Given the description of an element on the screen output the (x, y) to click on. 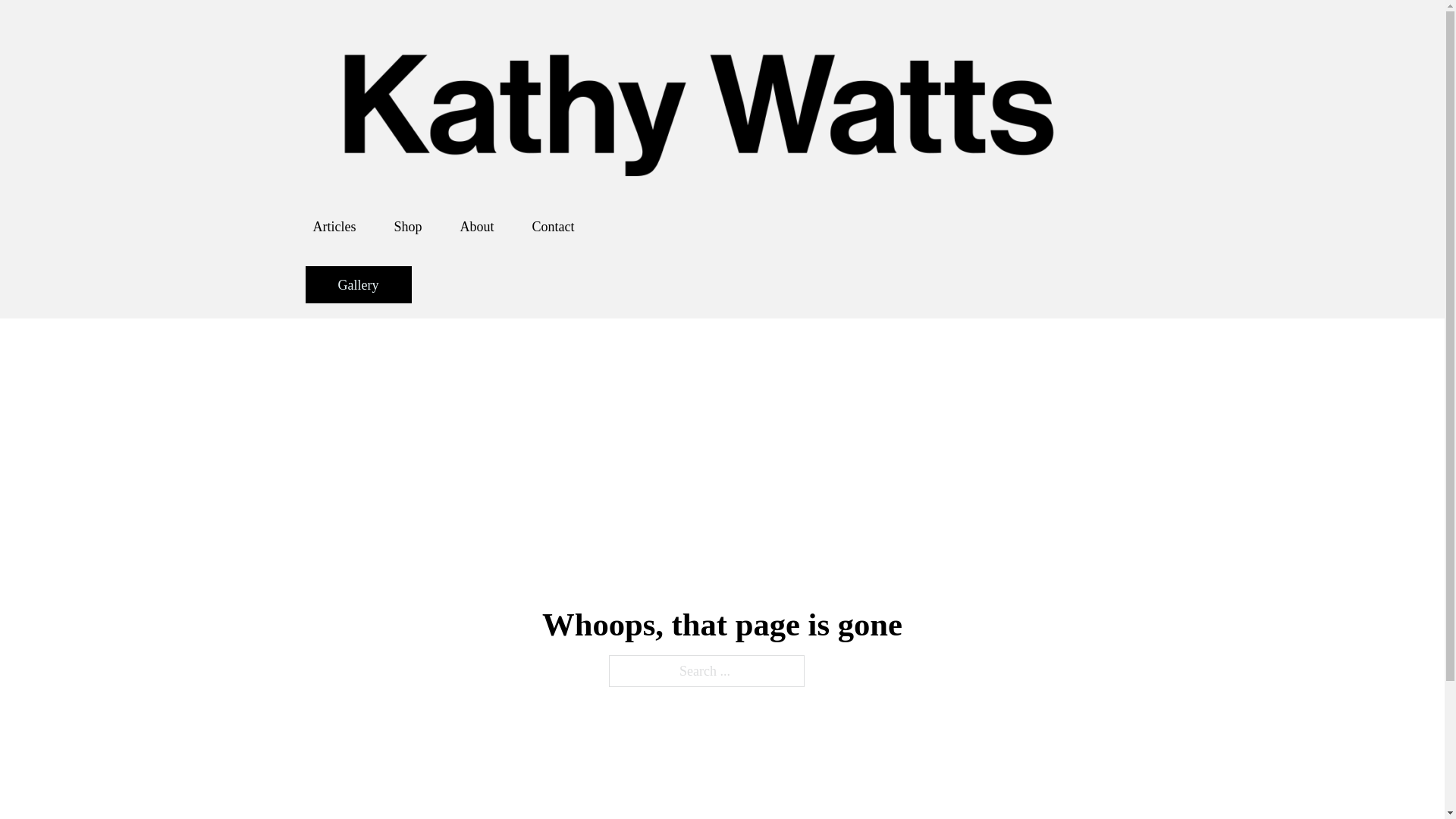
Articles (333, 226)
Shop (407, 226)
Gallery (357, 284)
About (475, 226)
Contact (553, 226)
